Given the description of an element on the screen output the (x, y) to click on. 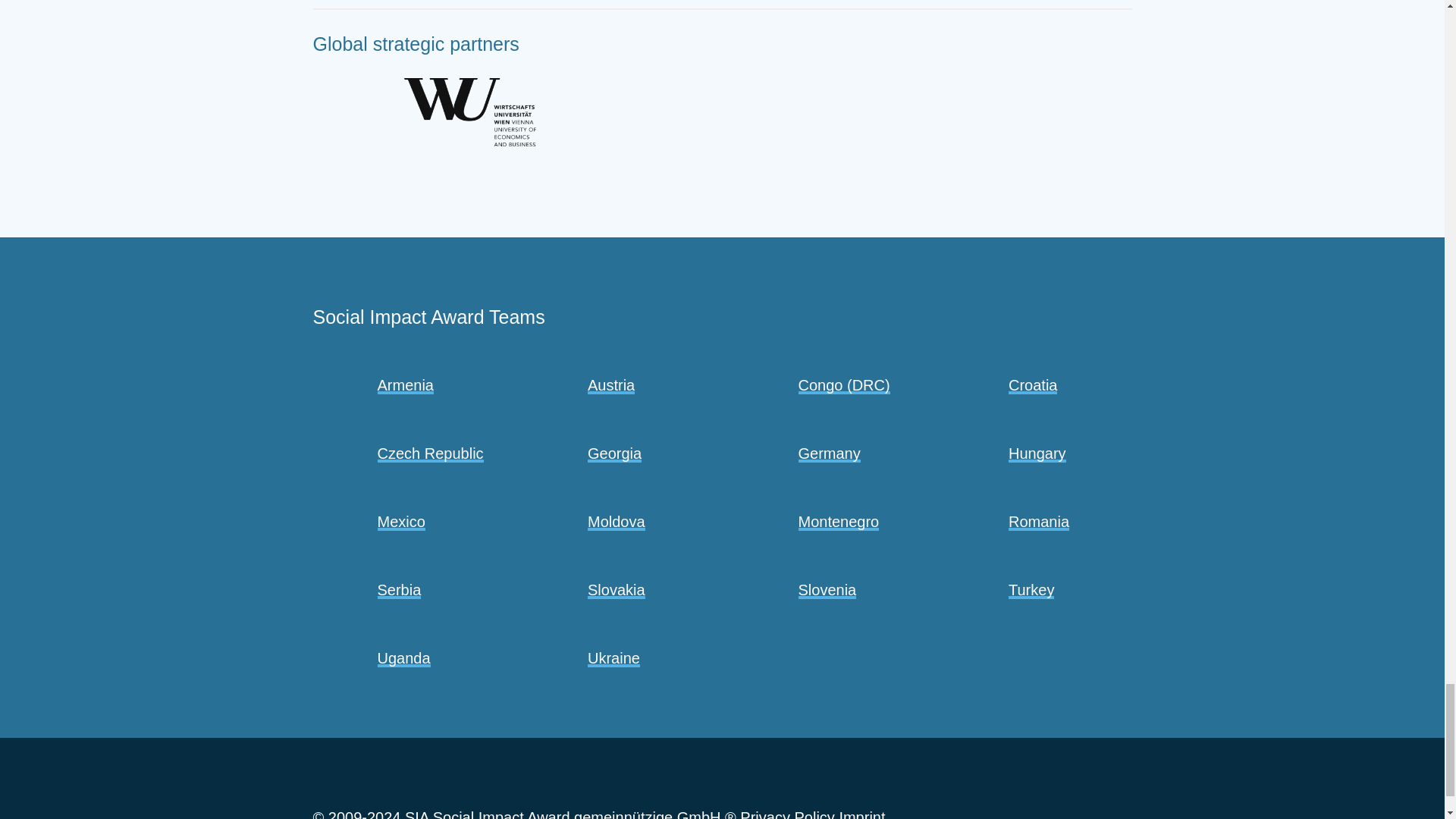
Vienna University of Economics and Business (469, 111)
Armenia (405, 384)
